Given the description of an element on the screen output the (x, y) to click on. 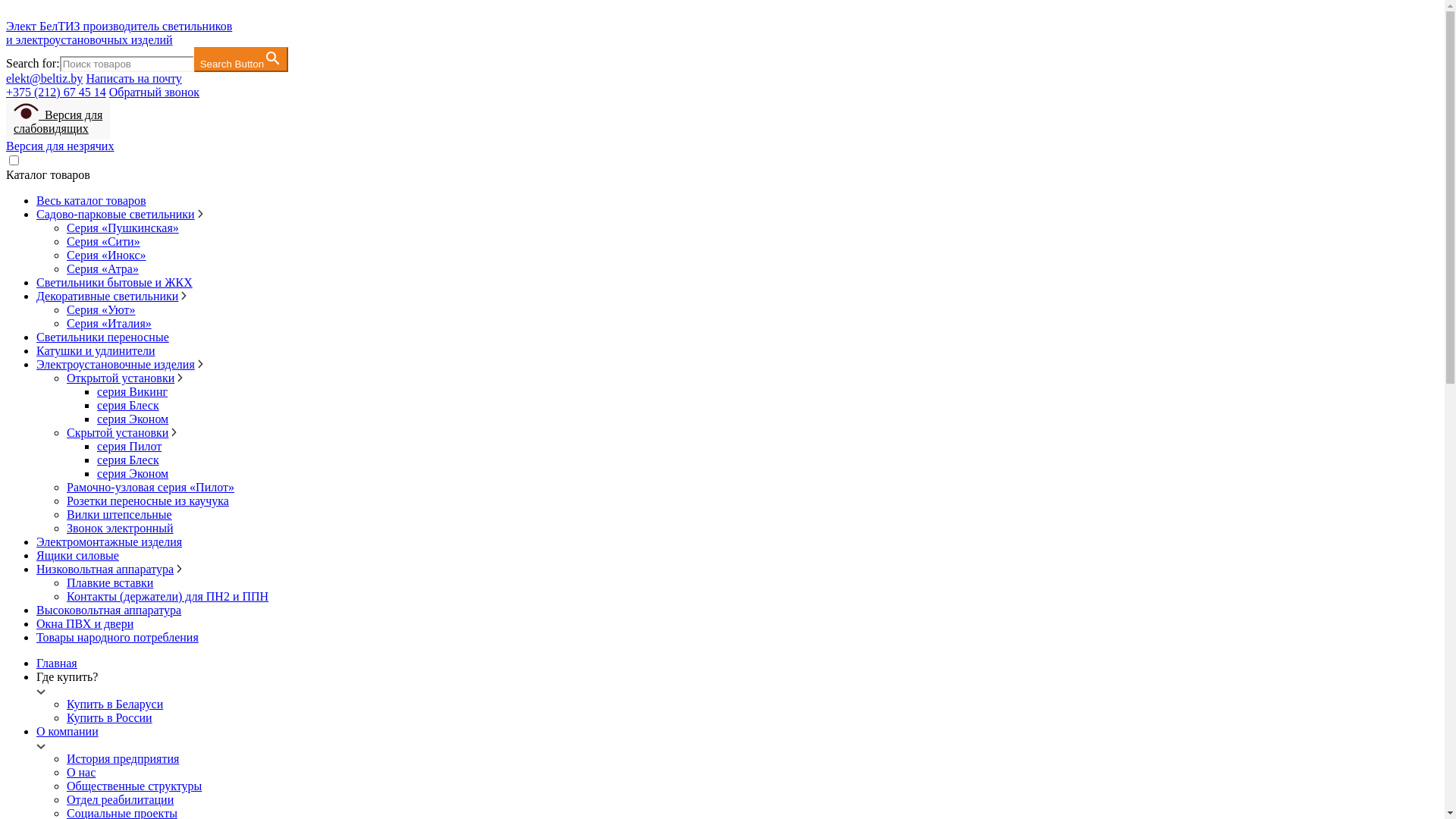
+375 (212) 67 45 14 Element type: text (56, 91)
elekt@beltiz.by Element type: text (44, 78)
Search Button Element type: text (241, 59)
